Given the description of an element on the screen output the (x, y) to click on. 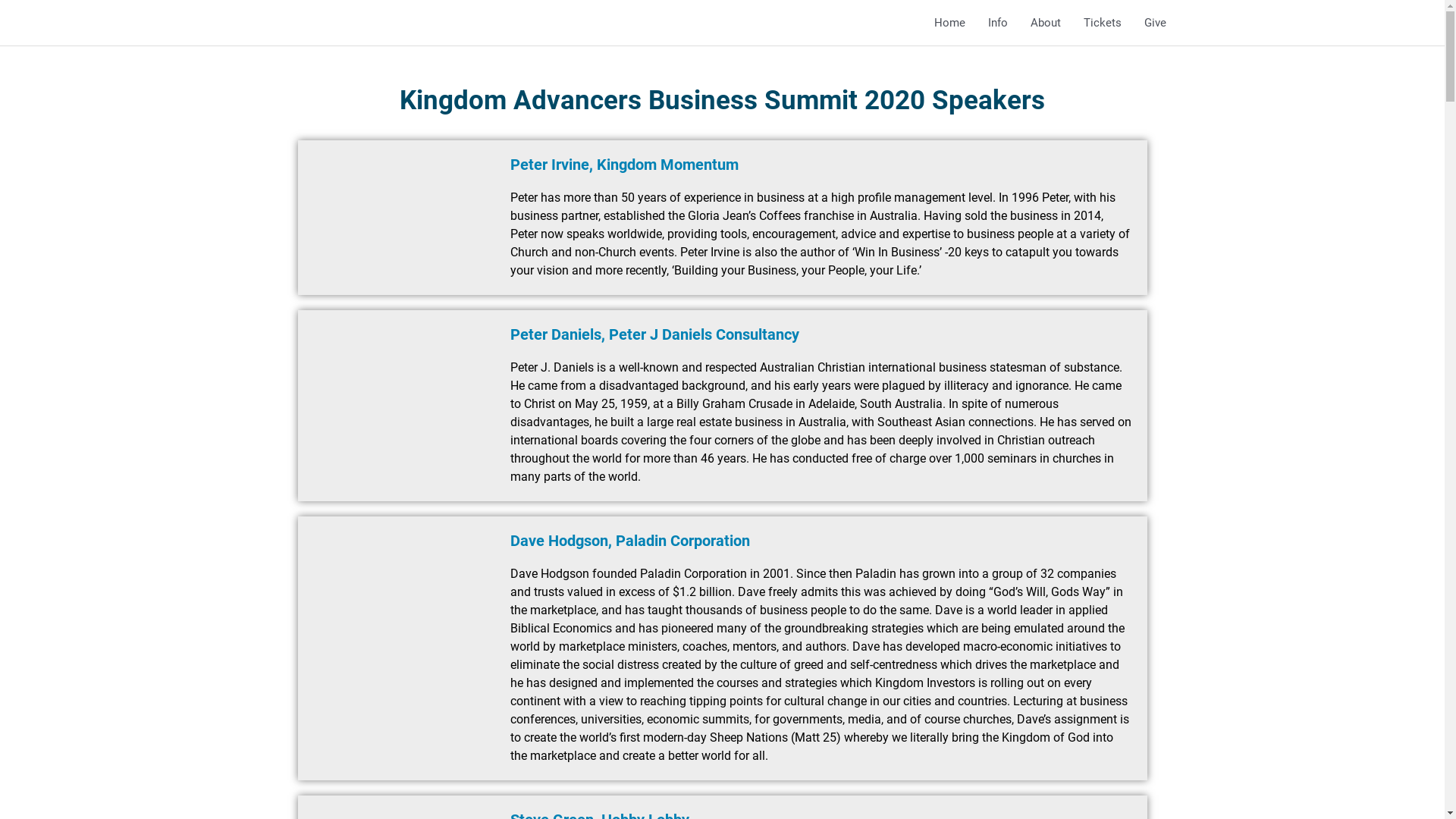
Info Element type: text (997, 22)
Home Element type: text (948, 22)
Tickets Element type: text (1102, 22)
About Element type: text (1045, 22)
Give Element type: text (1154, 22)
